Given the description of an element on the screen output the (x, y) to click on. 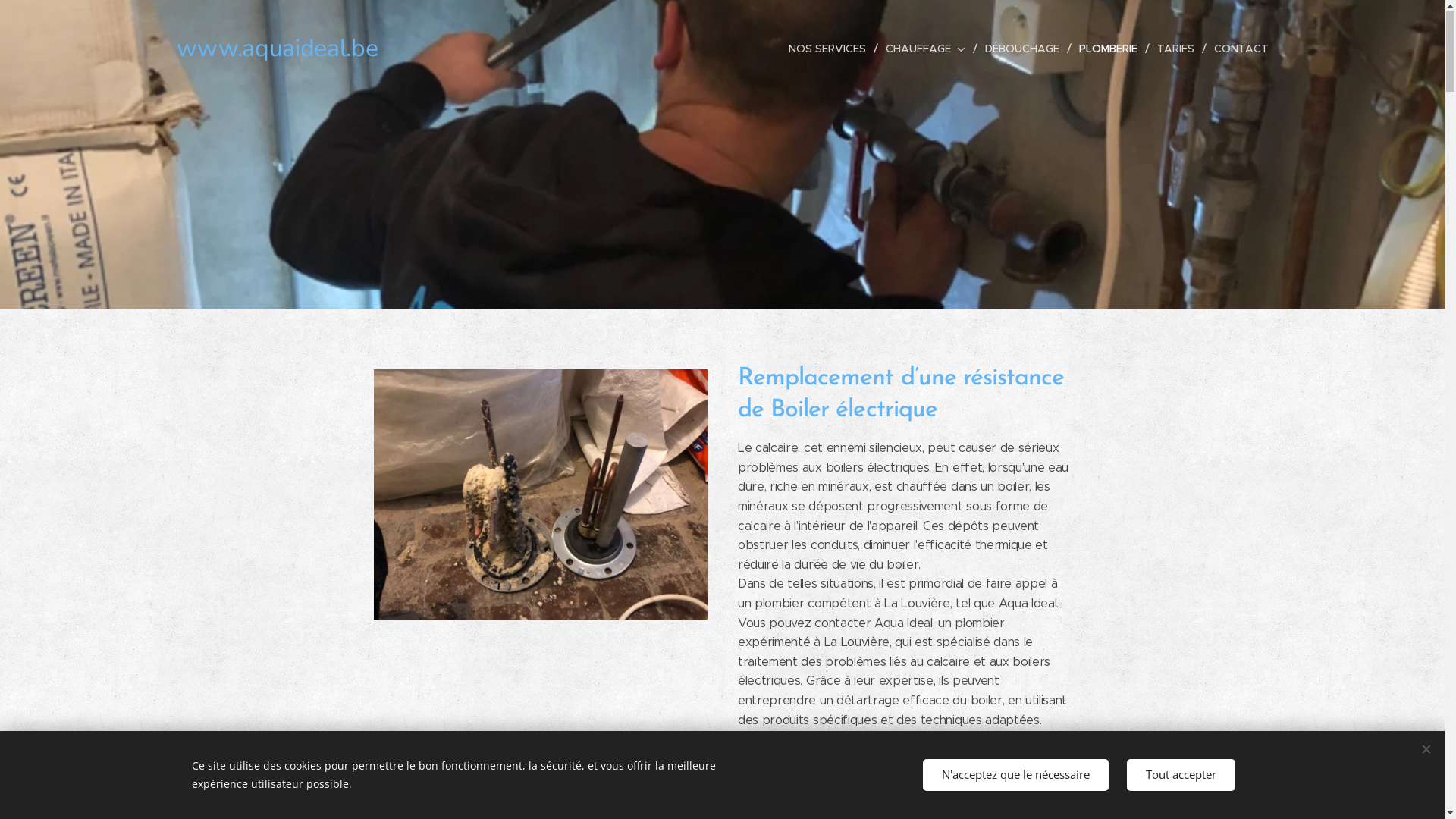
PLOMBERIE Element type: text (1109, 49)
CONTACT Element type: text (1236, 49)
NOS SERVICES Element type: text (830, 49)
www.aquaideal.be Element type: text (276, 49)
TARIFS Element type: text (1177, 49)
Tout accepter Element type: text (1180, 774)
CHAUFFAGE Element type: text (927, 49)
